Given the description of an element on the screen output the (x, y) to click on. 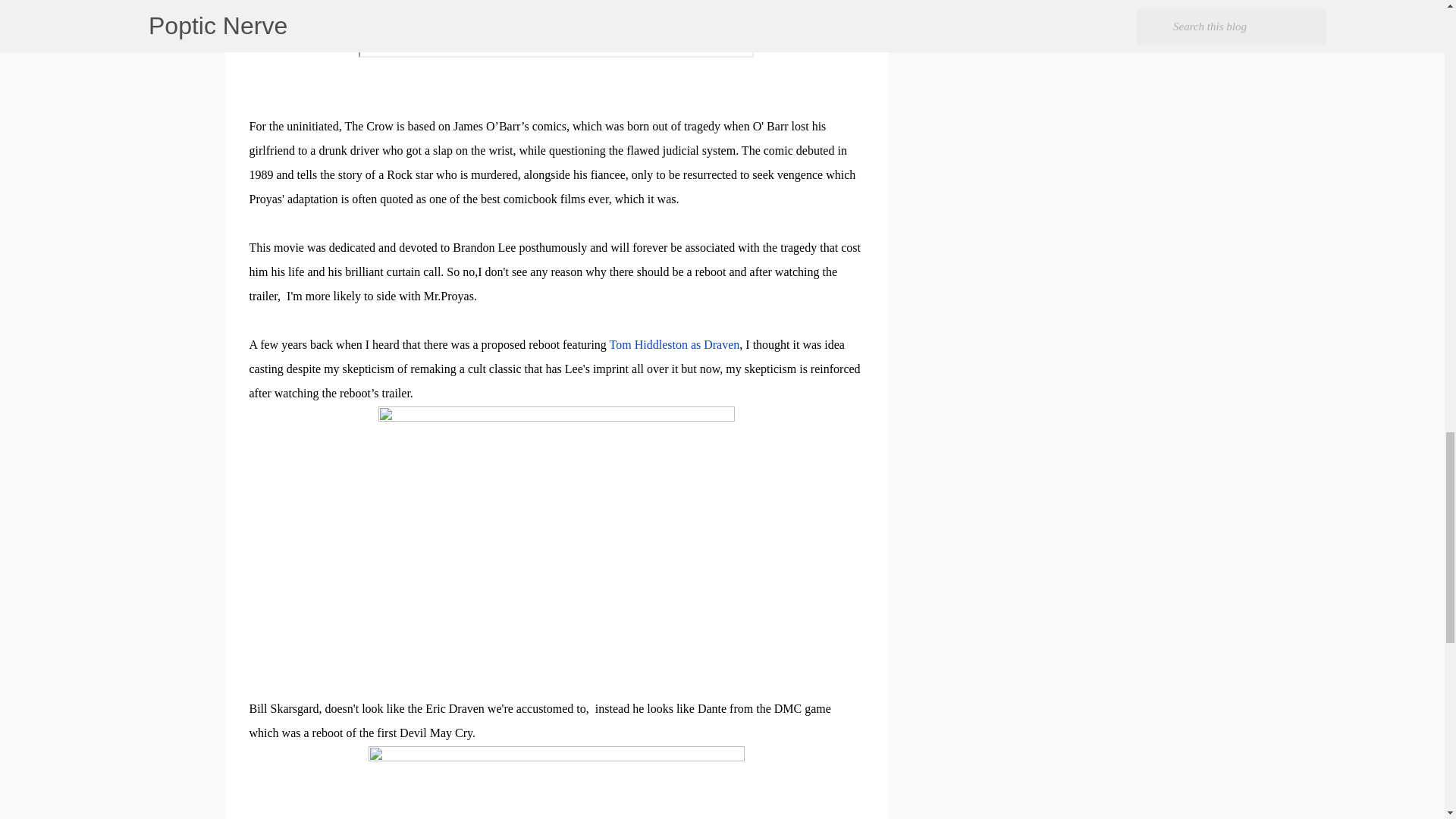
Tom Hiddleston as Draven (674, 344)
